Given the description of an element on the screen output the (x, y) to click on. 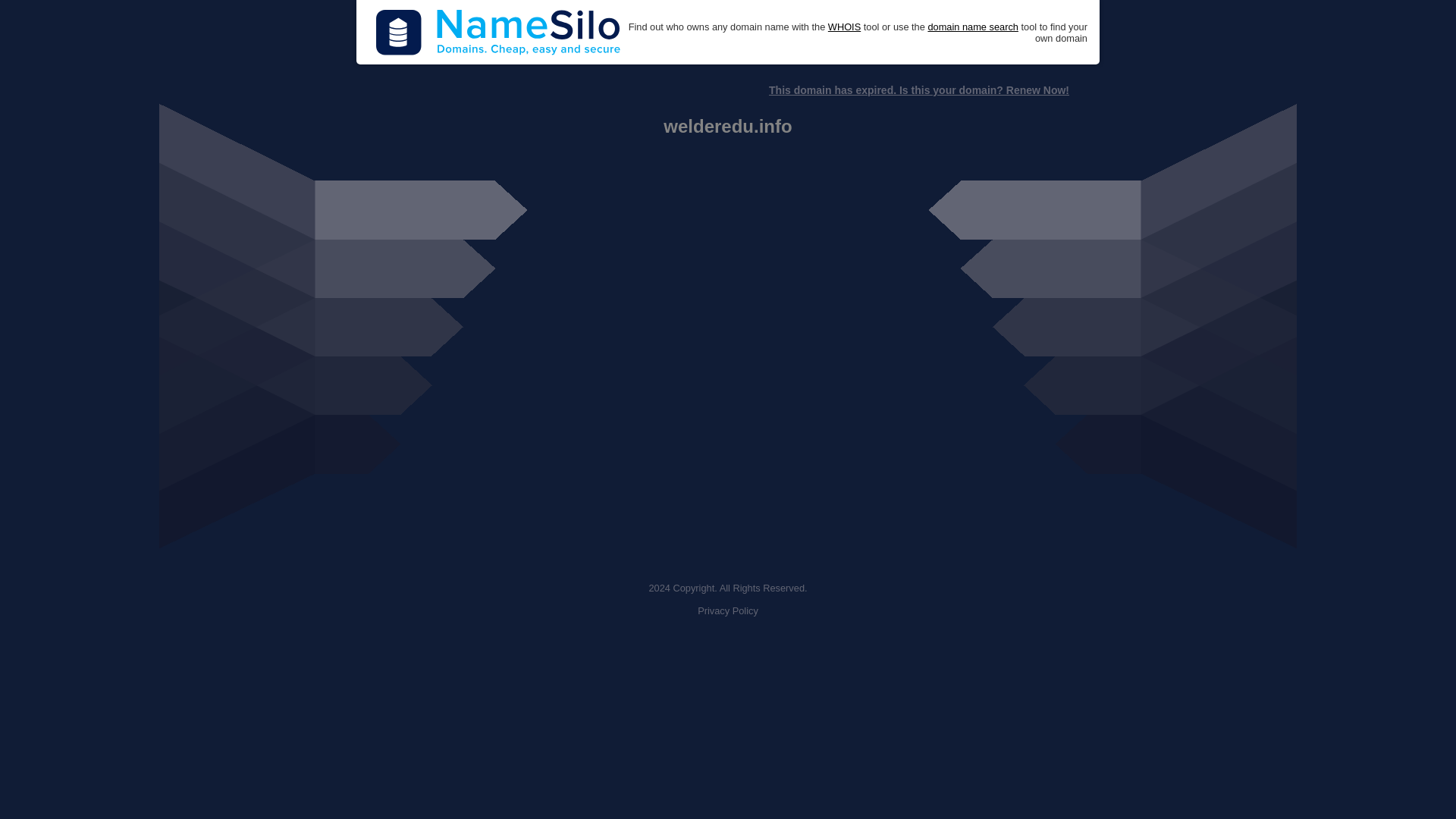
This domain has expired. Is this your domain? Renew Now! (918, 90)
WHOIS (844, 26)
Privacy Policy (727, 610)
domain name search (972, 26)
